Given the description of an element on the screen output the (x, y) to click on. 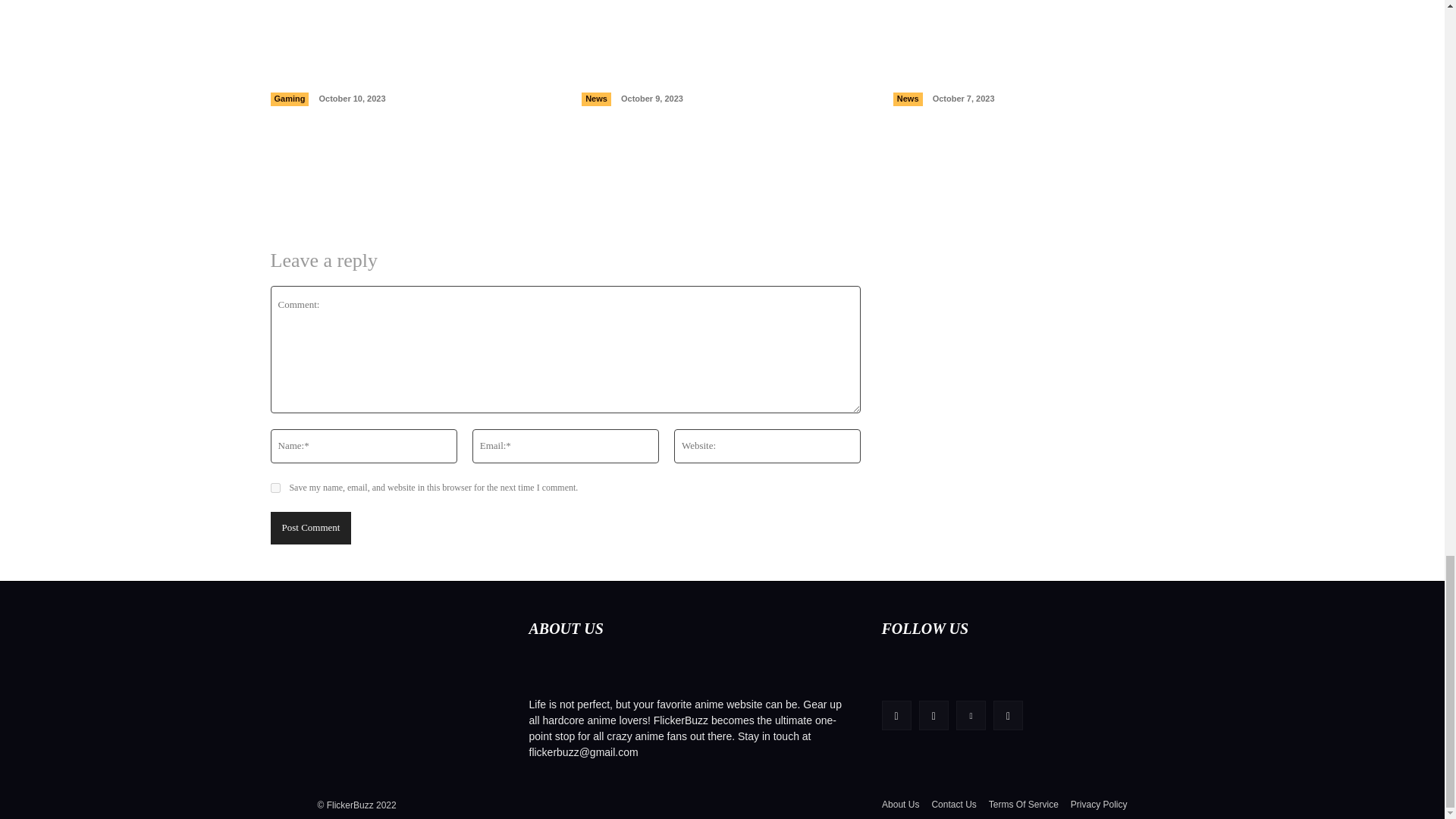
Post Comment (309, 527)
yes (274, 488)
